Given the description of an element on the screen output the (x, y) to click on. 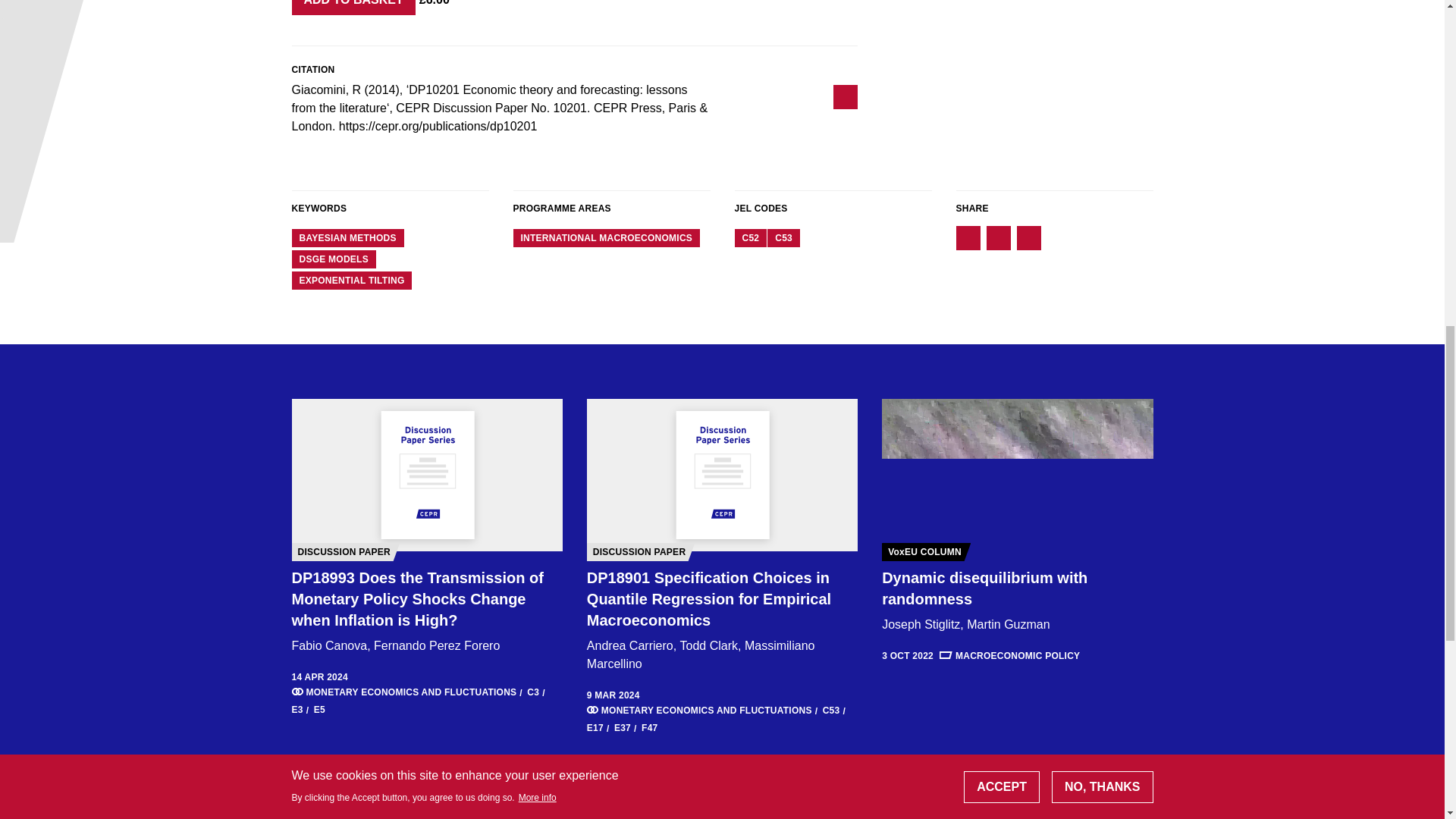
Add to basket (352, 7)
